Given the description of an element on the screen output the (x, y) to click on. 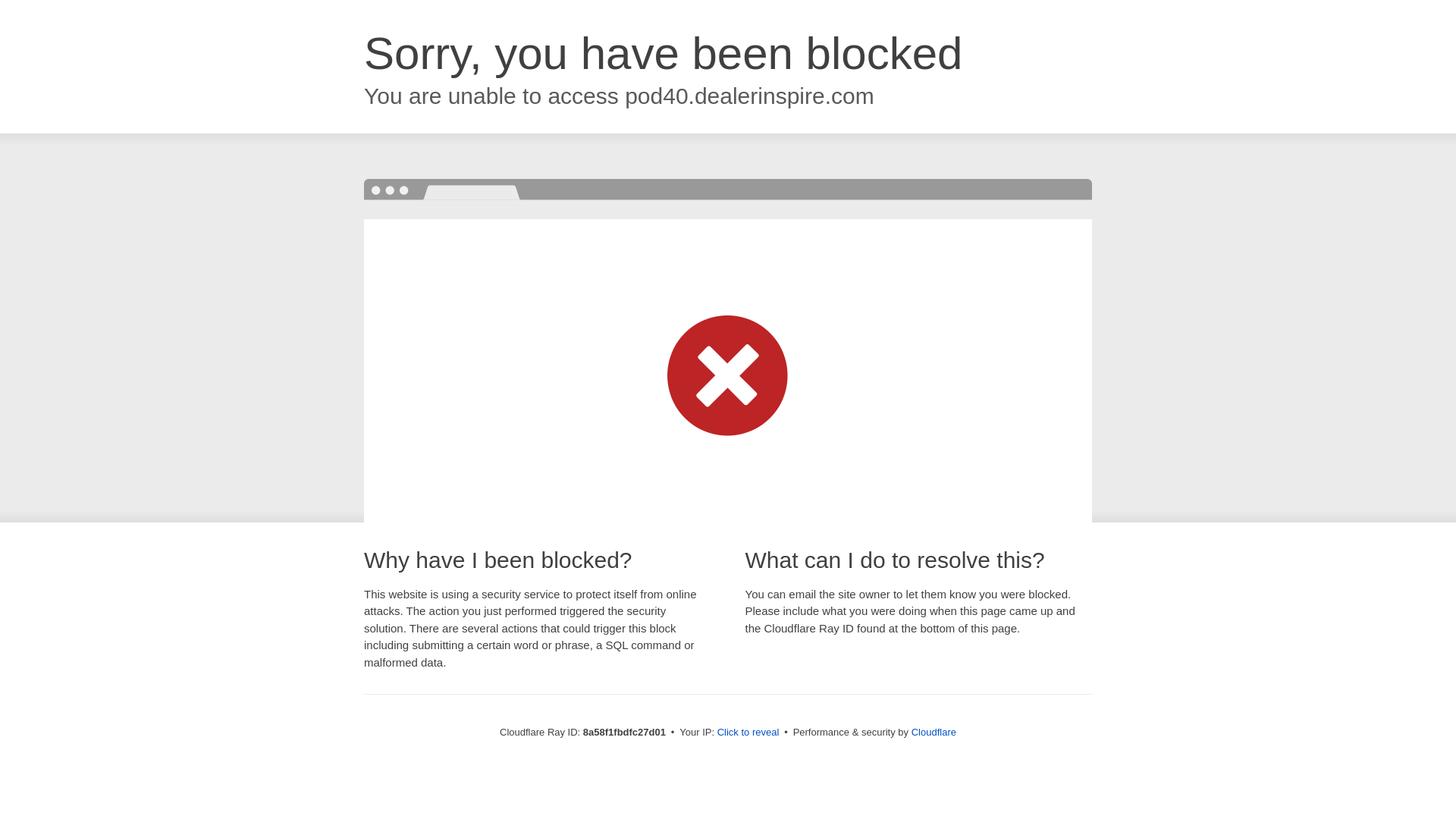
Click to reveal (747, 732)
Cloudflare (933, 731)
